Given the description of an element on the screen output the (x, y) to click on. 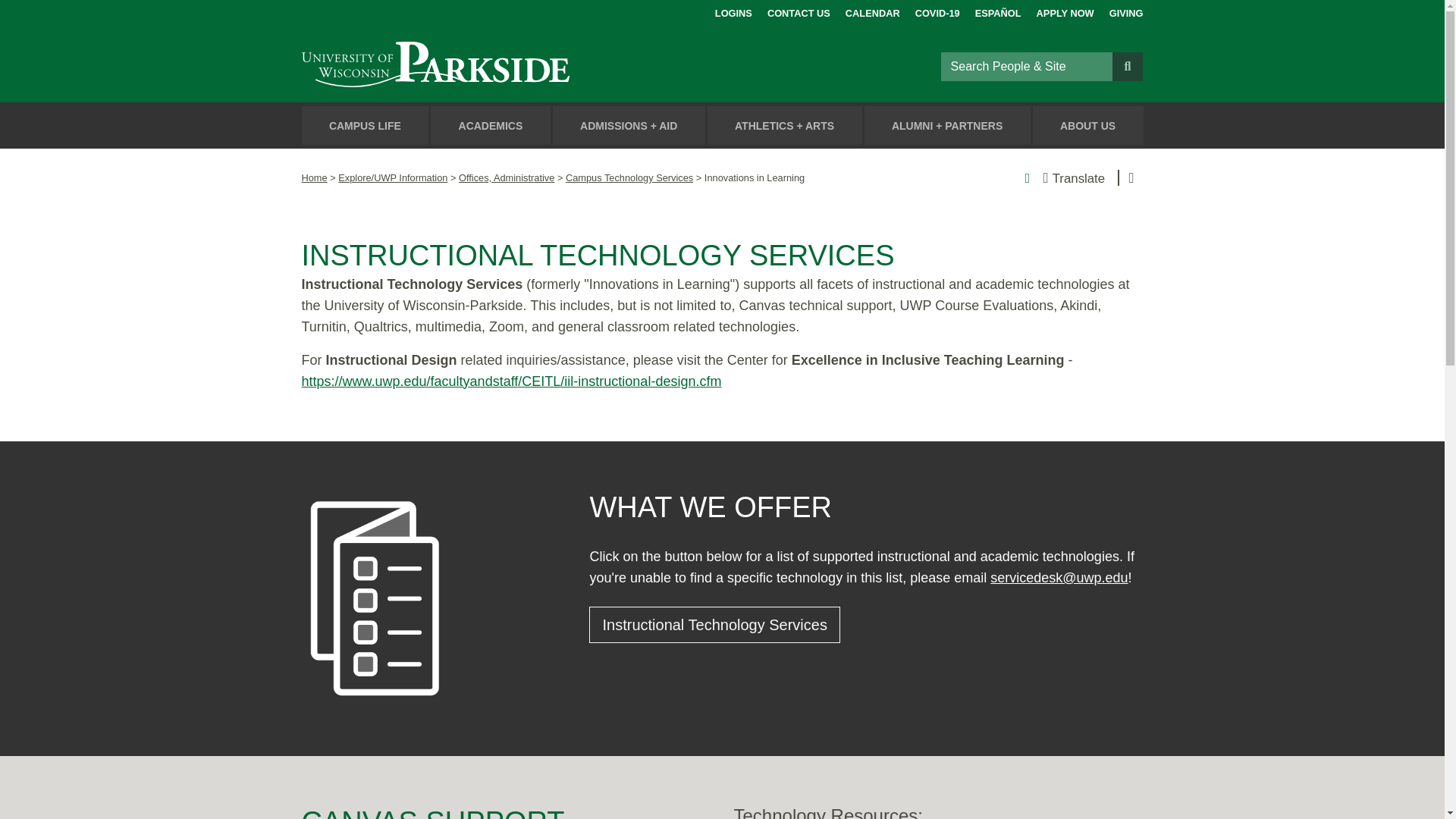
APPLY NOW (1065, 11)
CONTACT US (798, 11)
COVID-19 (937, 11)
GIVING (1125, 11)
Skip to main content (18, 14)
University of Wisconsin-Parkside (470, 66)
University of Wisconsin-Parkside (470, 66)
CALENDAR (872, 11)
LOGINS (733, 11)
Submit (1127, 65)
CAMPUS LIFE (365, 125)
